Given the description of an element on the screen output the (x, y) to click on. 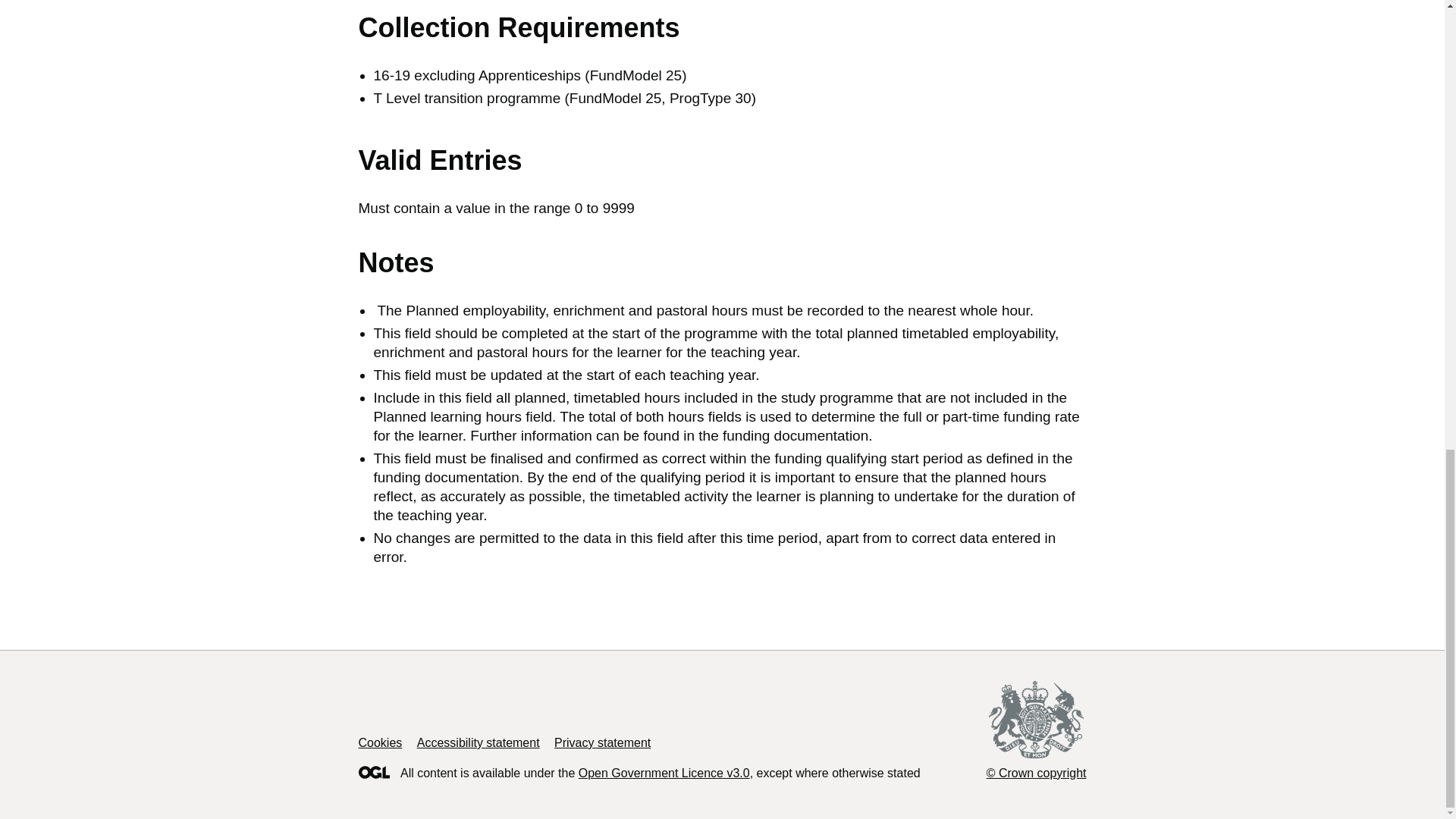
Cookies (379, 742)
Privacy statement (602, 742)
Accessibility statement (478, 742)
Open Government Licence v3.0 (663, 772)
